Given the description of an element on the screen output the (x, y) to click on. 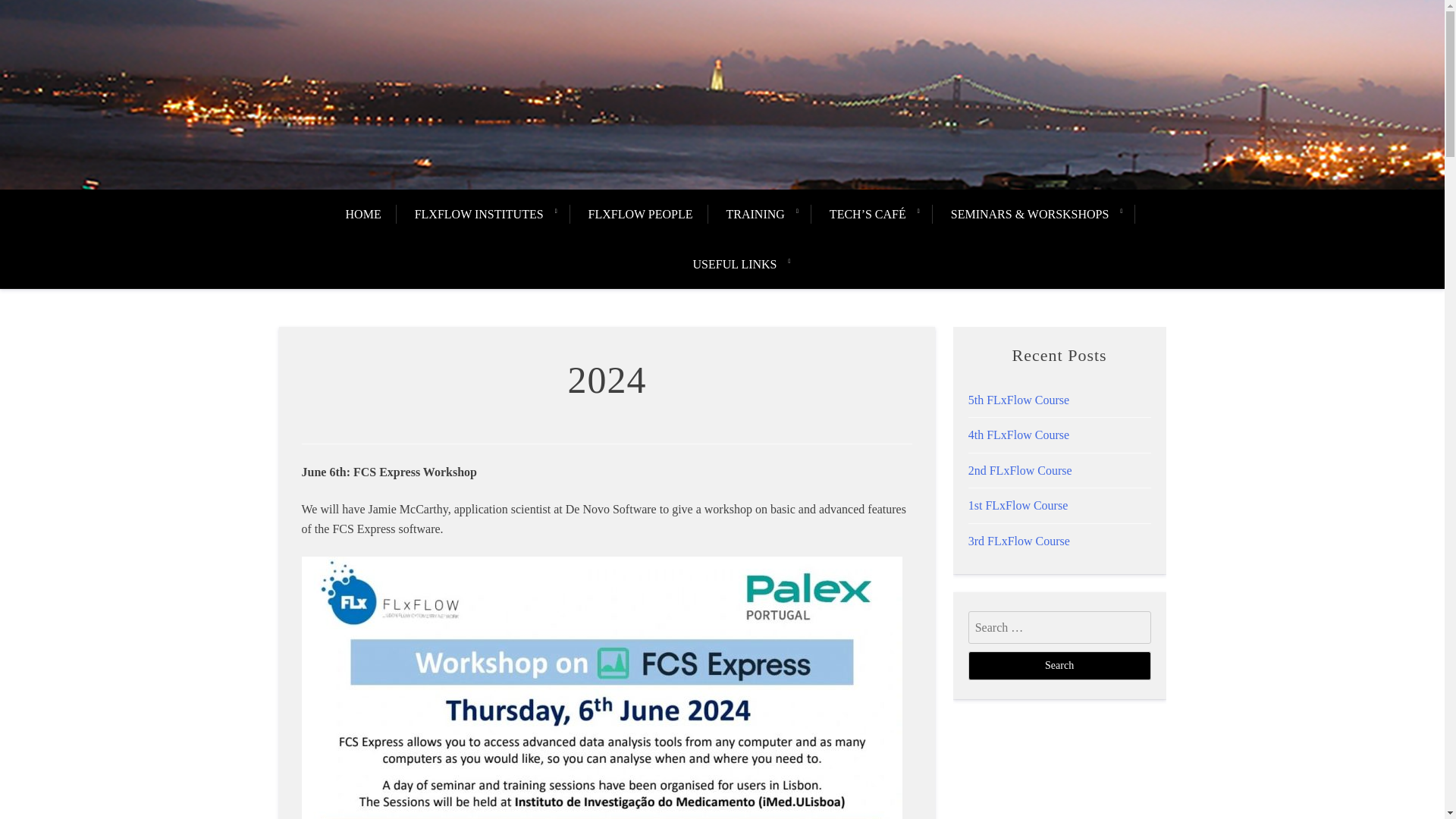
5th FLxFlow Course (1018, 399)
Search (1059, 665)
1st FLxFlow Course (1018, 504)
3rd FLxFlow Course (1019, 540)
TRAINING (755, 214)
USEFUL LINKS (735, 264)
Search (1059, 665)
2nd FLxFlow Course (1019, 470)
4th FLxFlow Course (1018, 434)
HOME (371, 214)
